Given the description of an element on the screen output the (x, y) to click on. 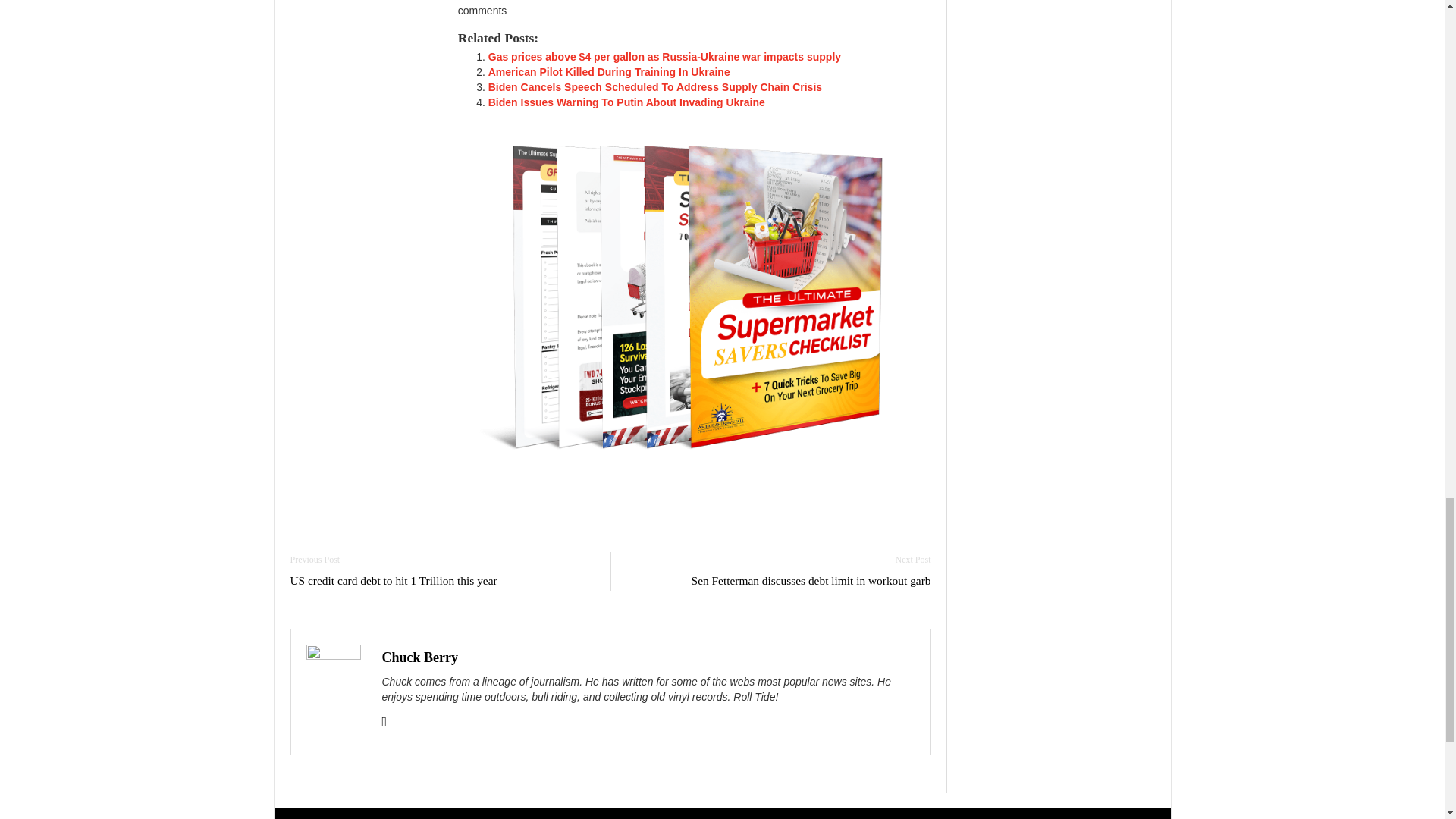
Biden Issues Warning To Putin About Invading Ukraine (626, 102)
Posts by Chuck Berry (419, 657)
American Pilot Killed During Training In Ukraine (608, 71)
